Given the description of an element on the screen output the (x, y) to click on. 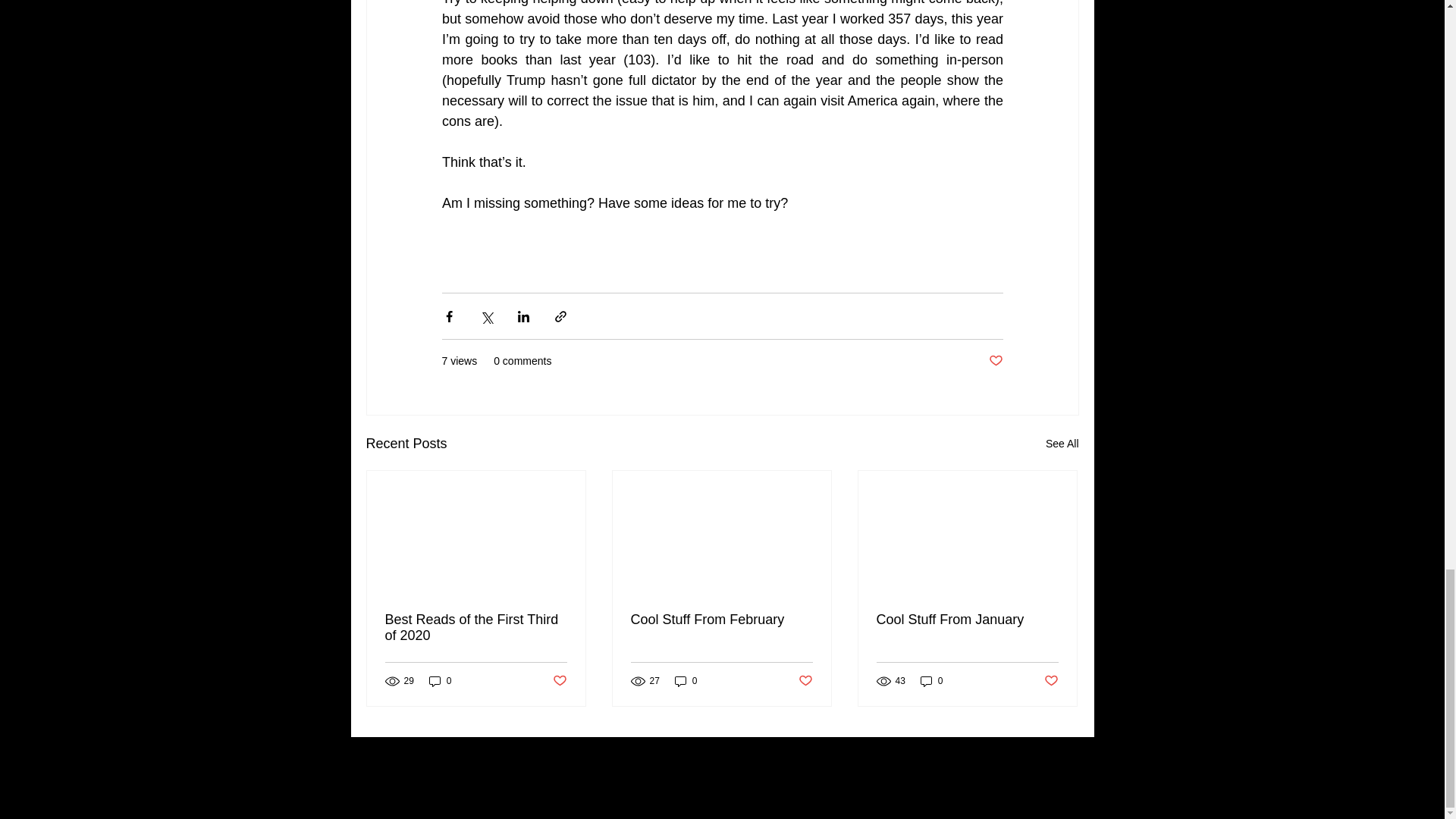
Post not marked as liked (804, 681)
0 (685, 680)
Cool Stuff From February (721, 619)
0 (931, 680)
Post not marked as liked (558, 681)
Cool Stuff From January (967, 619)
Post not marked as liked (995, 360)
0 (440, 680)
Post not marked as liked (1050, 681)
See All (1061, 444)
Best Reads of the First Third of 2020 (476, 627)
